Given the description of an element on the screen output the (x, y) to click on. 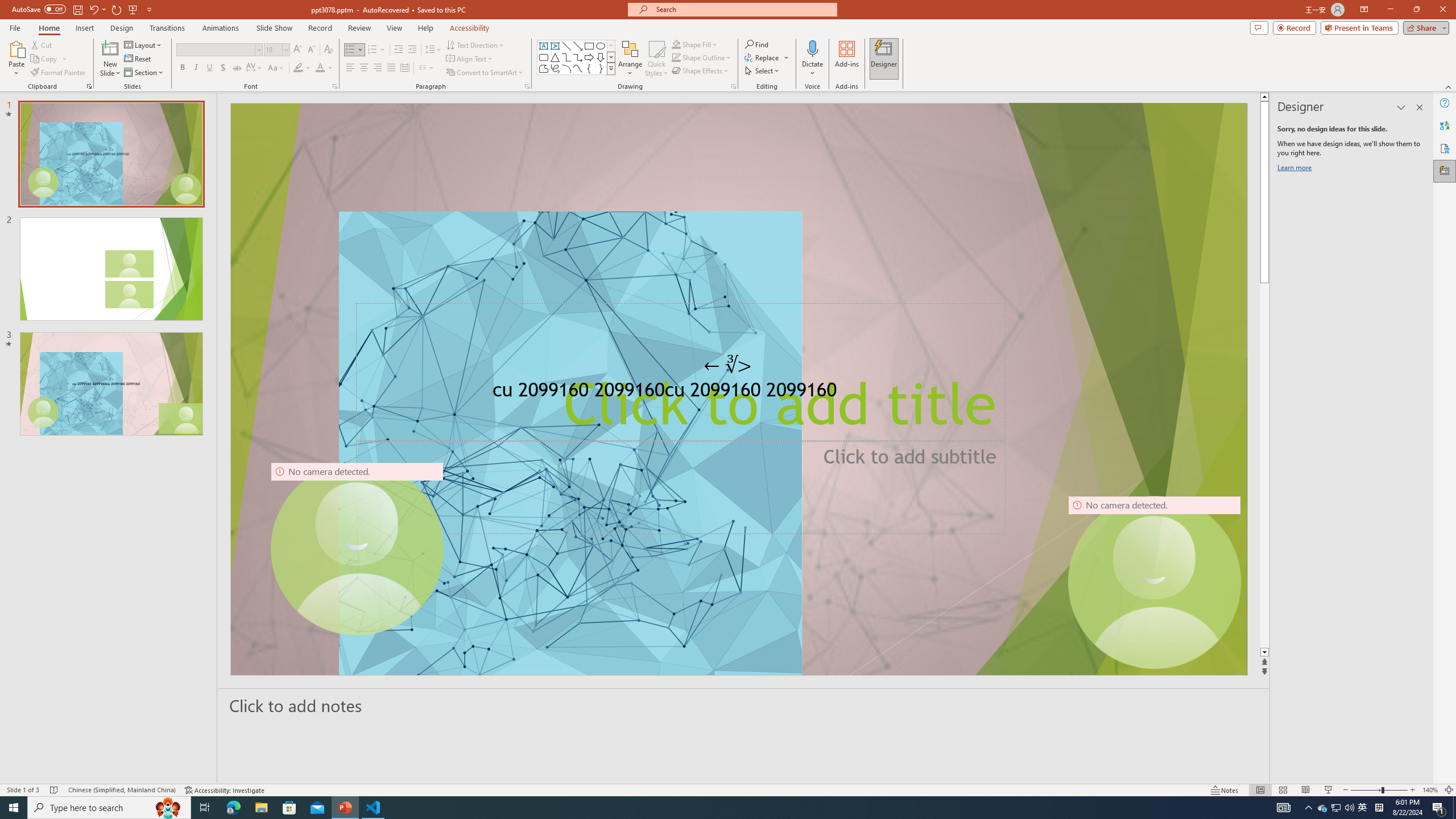
Zoom 140% (1430, 790)
Shape Outline Green, Accent 1 (675, 56)
